Given the description of an element on the screen output the (x, y) to click on. 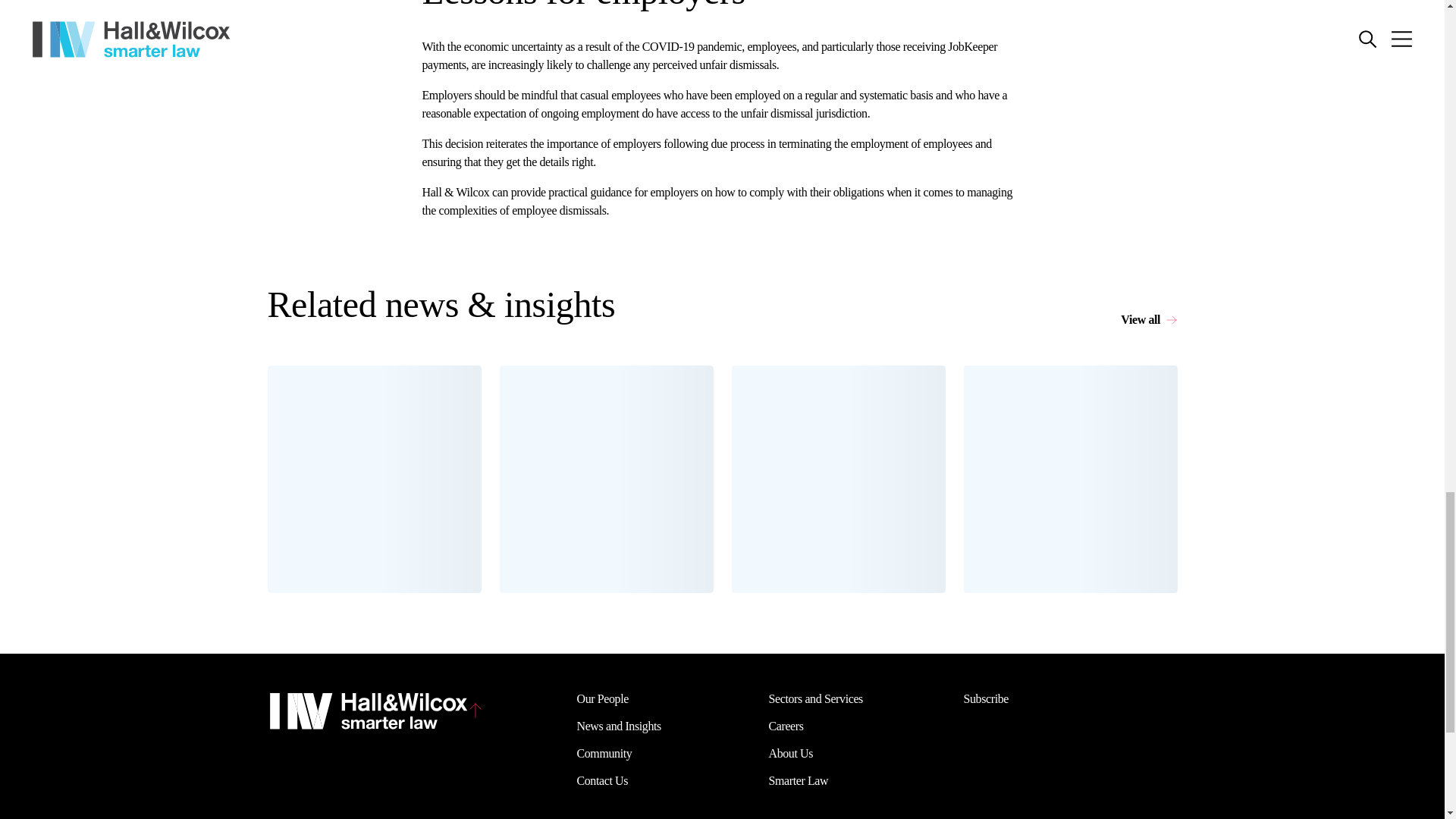
News and Insights (618, 726)
Contact Us (601, 781)
Subscribe (985, 699)
Smarter Law (798, 781)
About Us (790, 753)
Careers (785, 726)
Our People (601, 699)
View all (1148, 320)
Community (603, 753)
Sectors and Services (815, 699)
